Given the description of an element on the screen output the (x, y) to click on. 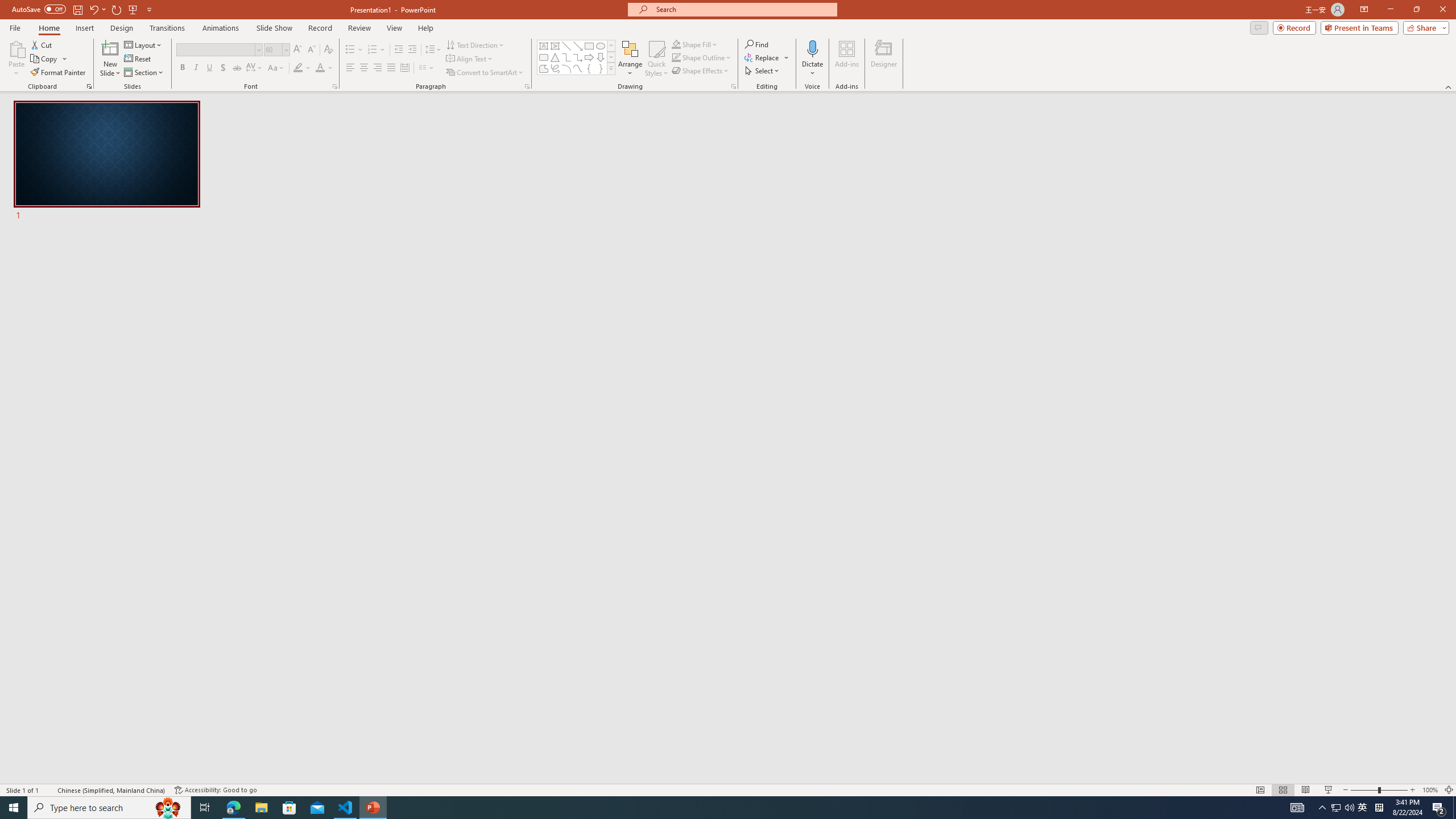
Decrease Indent (398, 49)
Font (219, 49)
Replace... (762, 56)
Copy (45, 58)
Shadow (223, 67)
Numbering (376, 49)
Left Brace (589, 68)
New Slide (110, 48)
Shapes (611, 68)
Clear Formatting (327, 49)
Decrease Font Size (310, 49)
Line (566, 45)
Increase Font Size (297, 49)
